Given the description of an element on the screen output the (x, y) to click on. 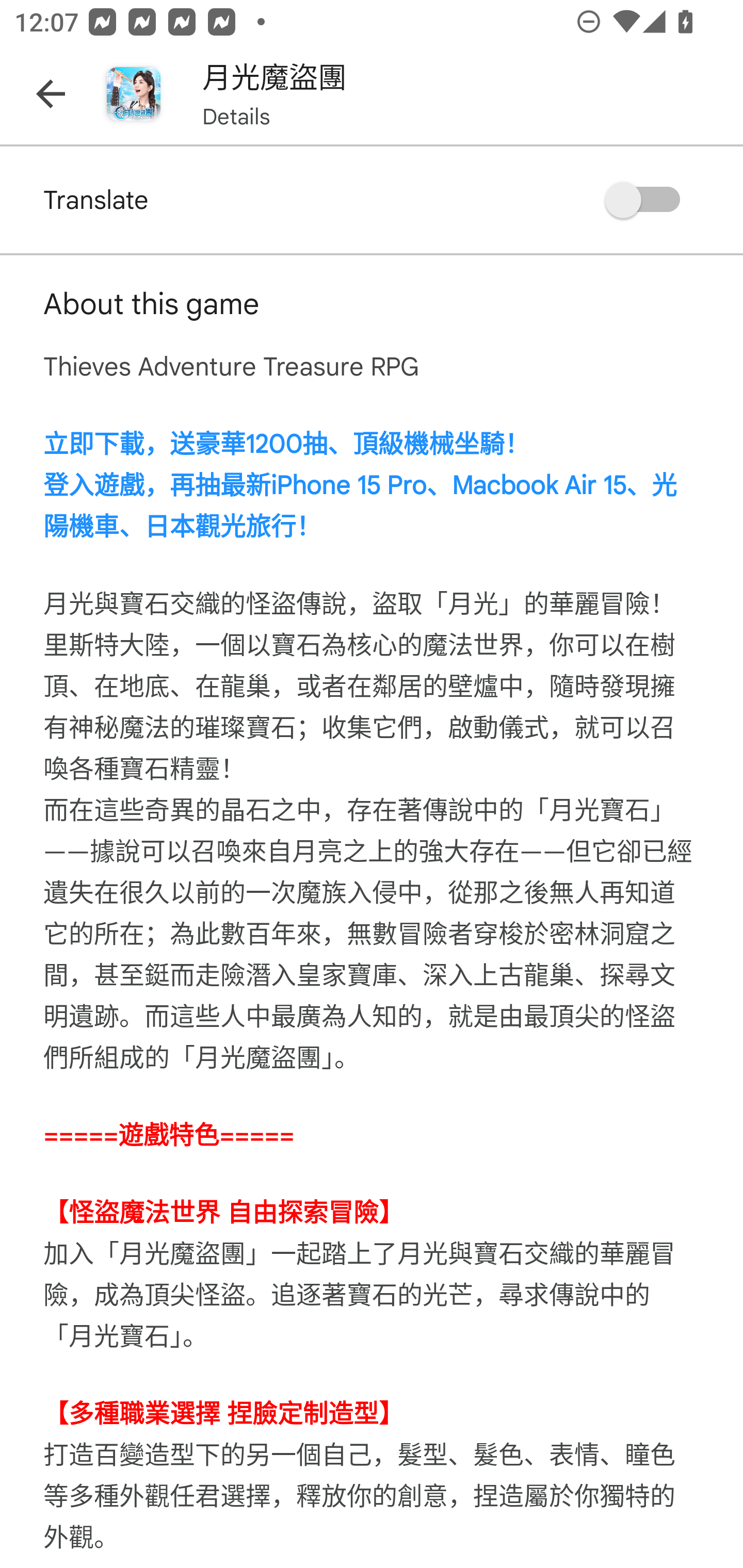
Navigate up (50, 93)
